Given the description of an element on the screen output the (x, y) to click on. 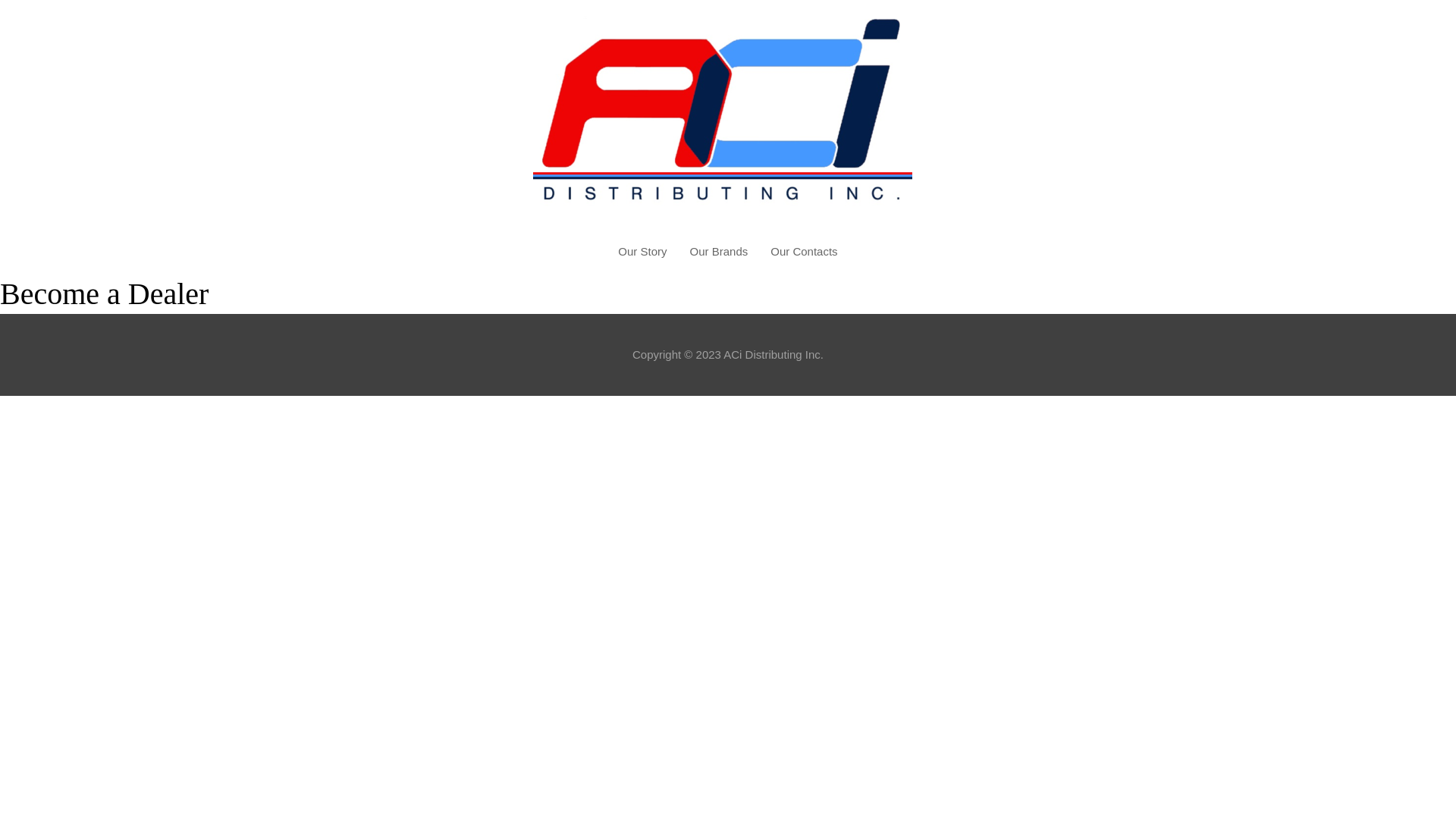
Our Story Element type: text (641, 251)
Our Contacts Element type: text (803, 251)
Our Brands Element type: text (718, 251)
